Given the description of an element on the screen output the (x, y) to click on. 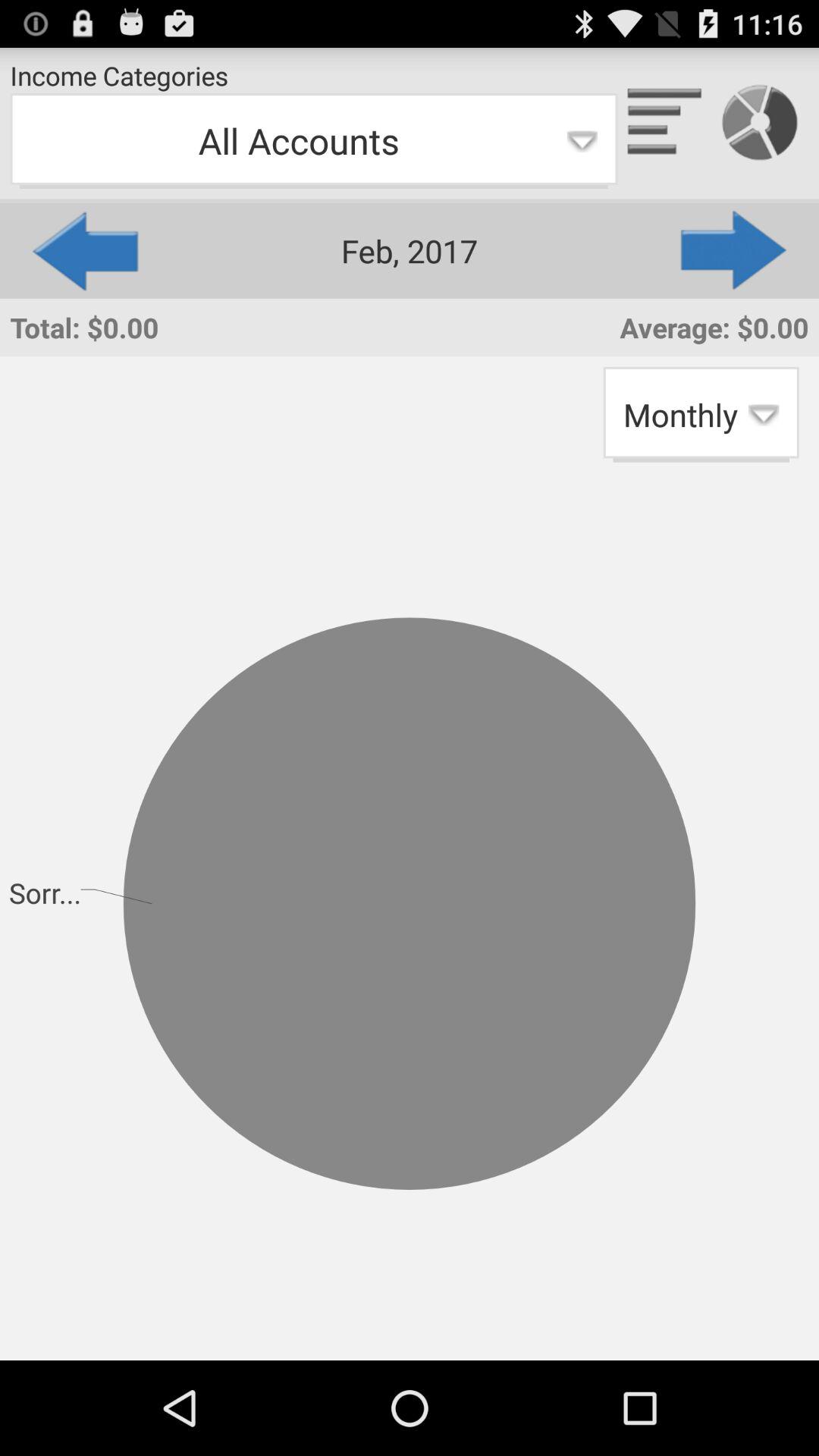
choose all accounts button (313, 140)
